Given the description of an element on the screen output the (x, y) to click on. 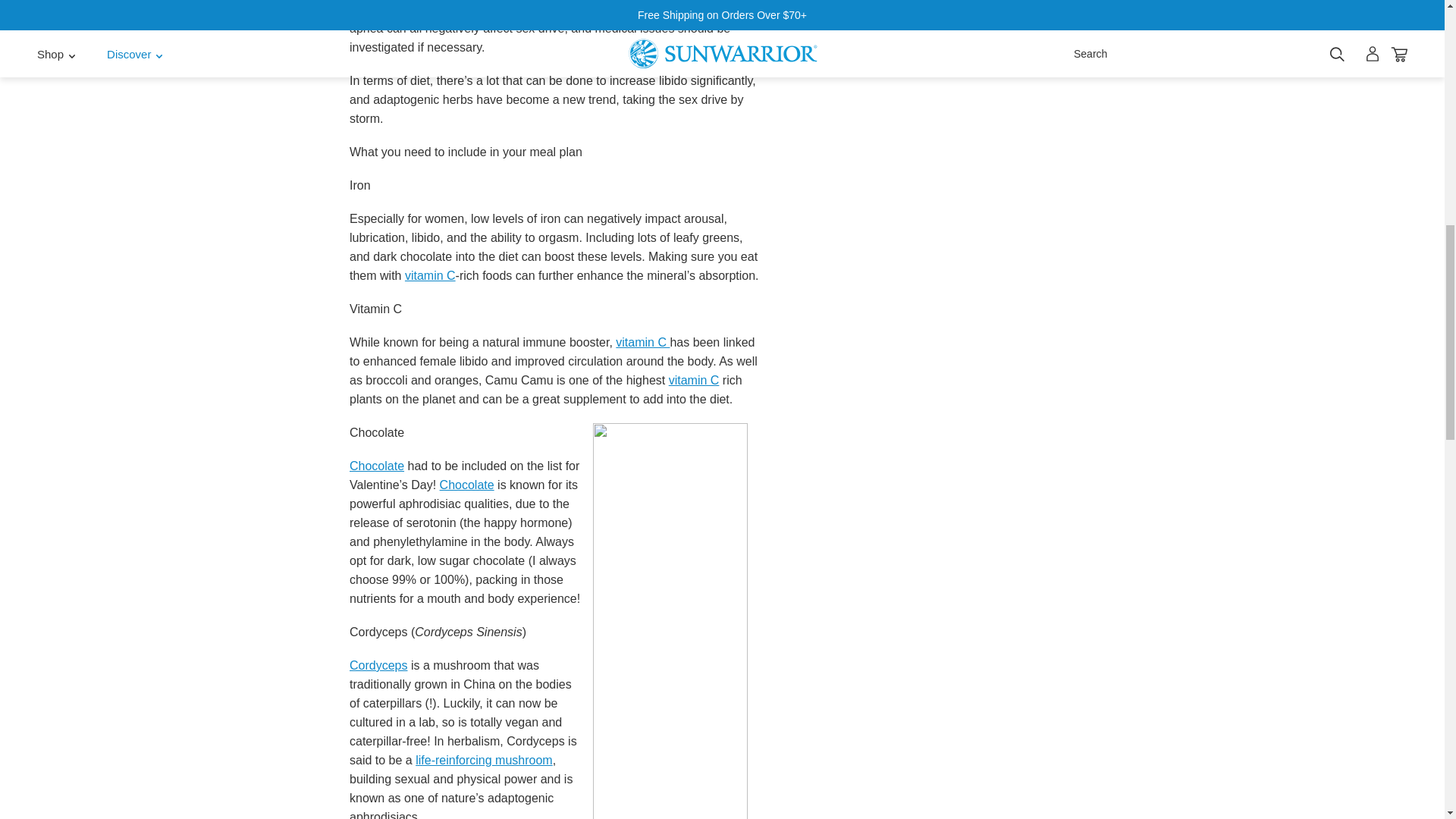
sunwarrior, mushrooms, cordyceps (378, 665)
sunwarrior, vitamin c (429, 275)
sunwarrior, vitamin c (693, 379)
sunwarrior, vitamin C (642, 341)
sunwarrior, cocoa (467, 484)
sunwarrior, cocoa (376, 465)
